Given the description of an element on the screen output the (x, y) to click on. 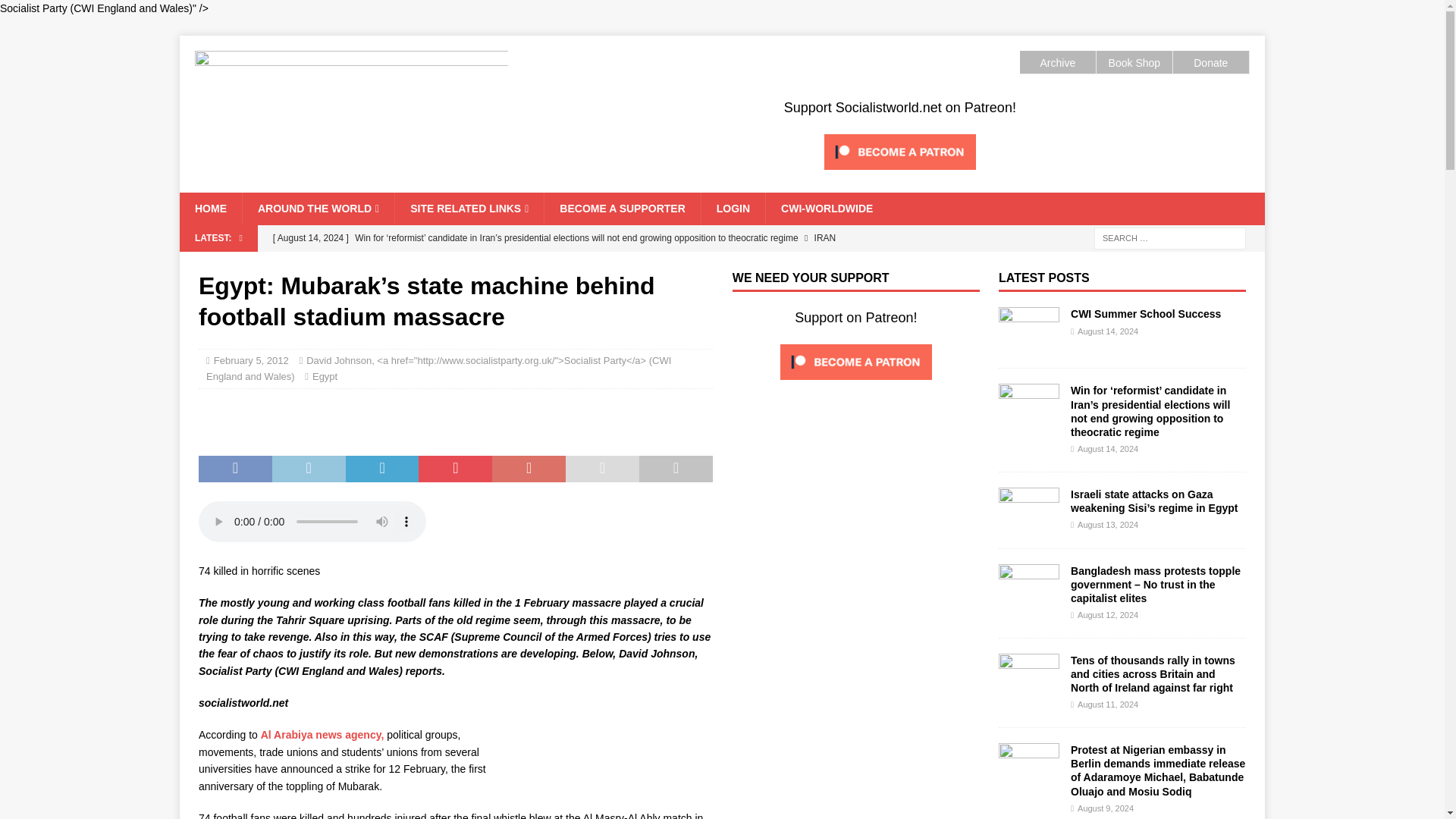
Book Shop (1134, 62)
Archive (1057, 62)
Donate (1210, 62)
